Given the description of an element on the screen output the (x, y) to click on. 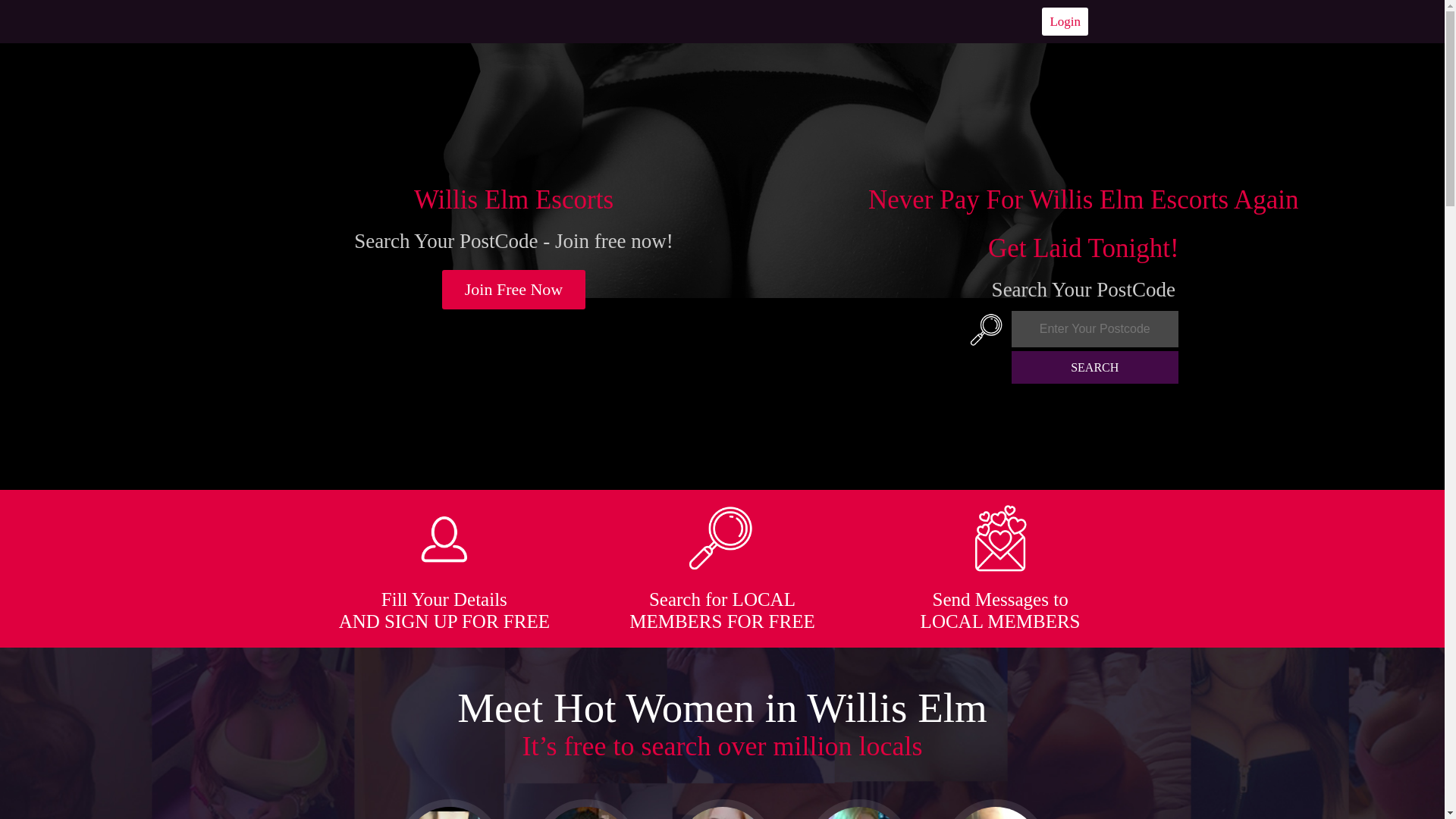
Login (1064, 21)
Login (1064, 21)
SEARCH (1094, 367)
Join (514, 289)
Join Free Now (514, 289)
